Given the description of an element on the screen output the (x, y) to click on. 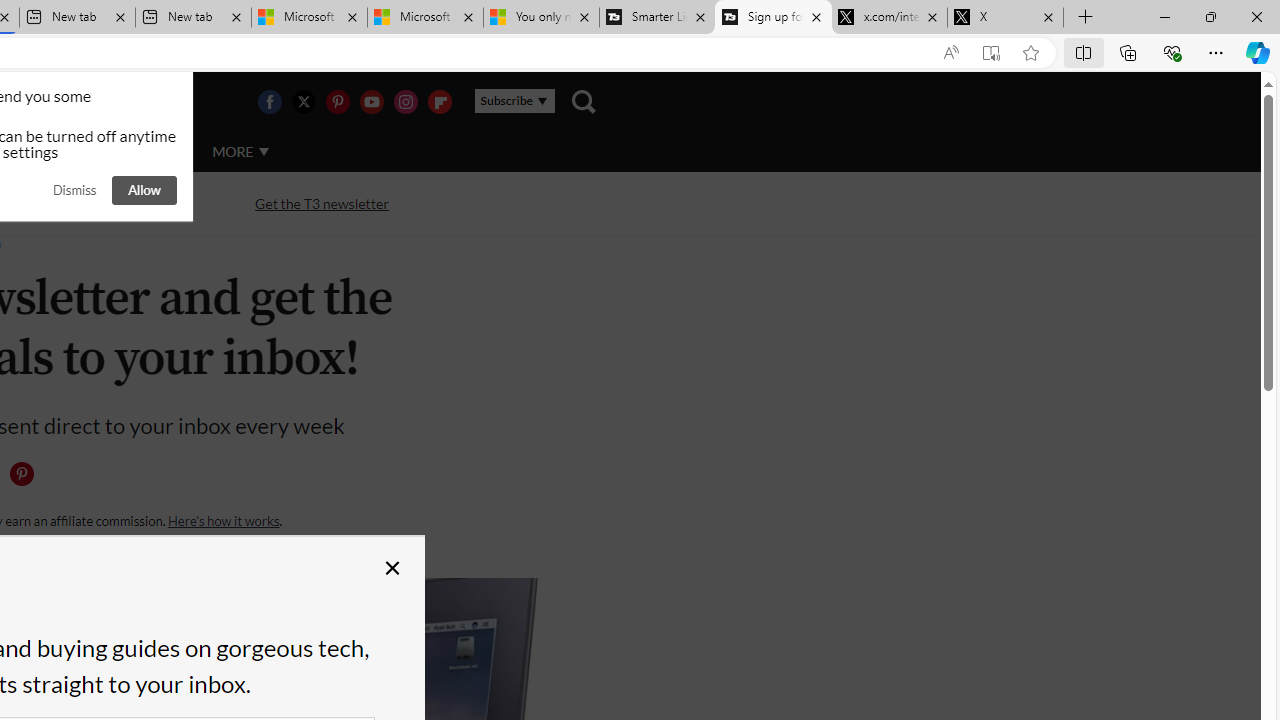
Share this page on Pintrest (21, 474)
Class: icon-svg (21, 474)
Class: navigation__search (583, 101)
Visit us on Youtube (371, 101)
flag of UK (44, 102)
Subscribe (514, 101)
MORE  (239, 151)
Get the T3 newsletter (322, 202)
AUTO (153, 151)
LUXURY (66, 151)
